Given the description of an element on the screen output the (x, y) to click on. 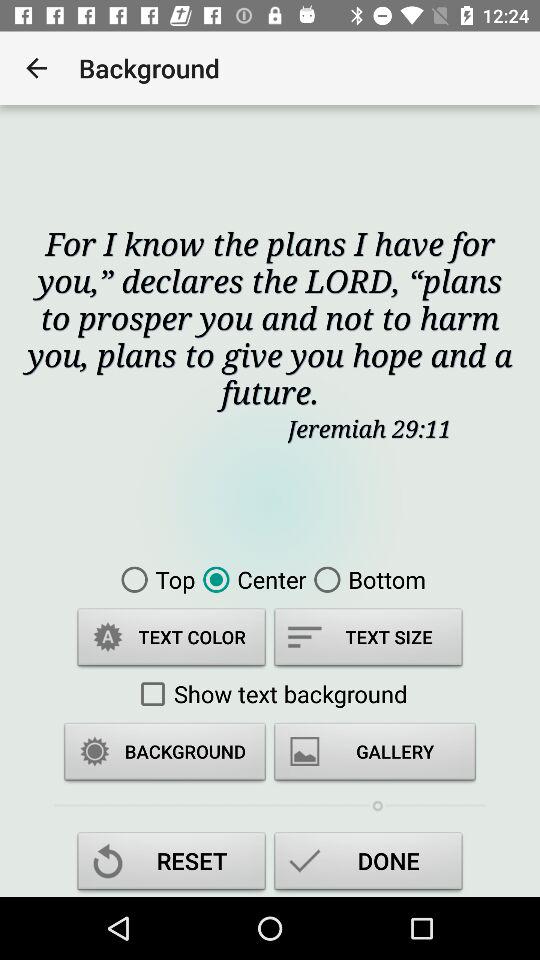
choose the top icon (154, 579)
